Given the description of an element on the screen output the (x, y) to click on. 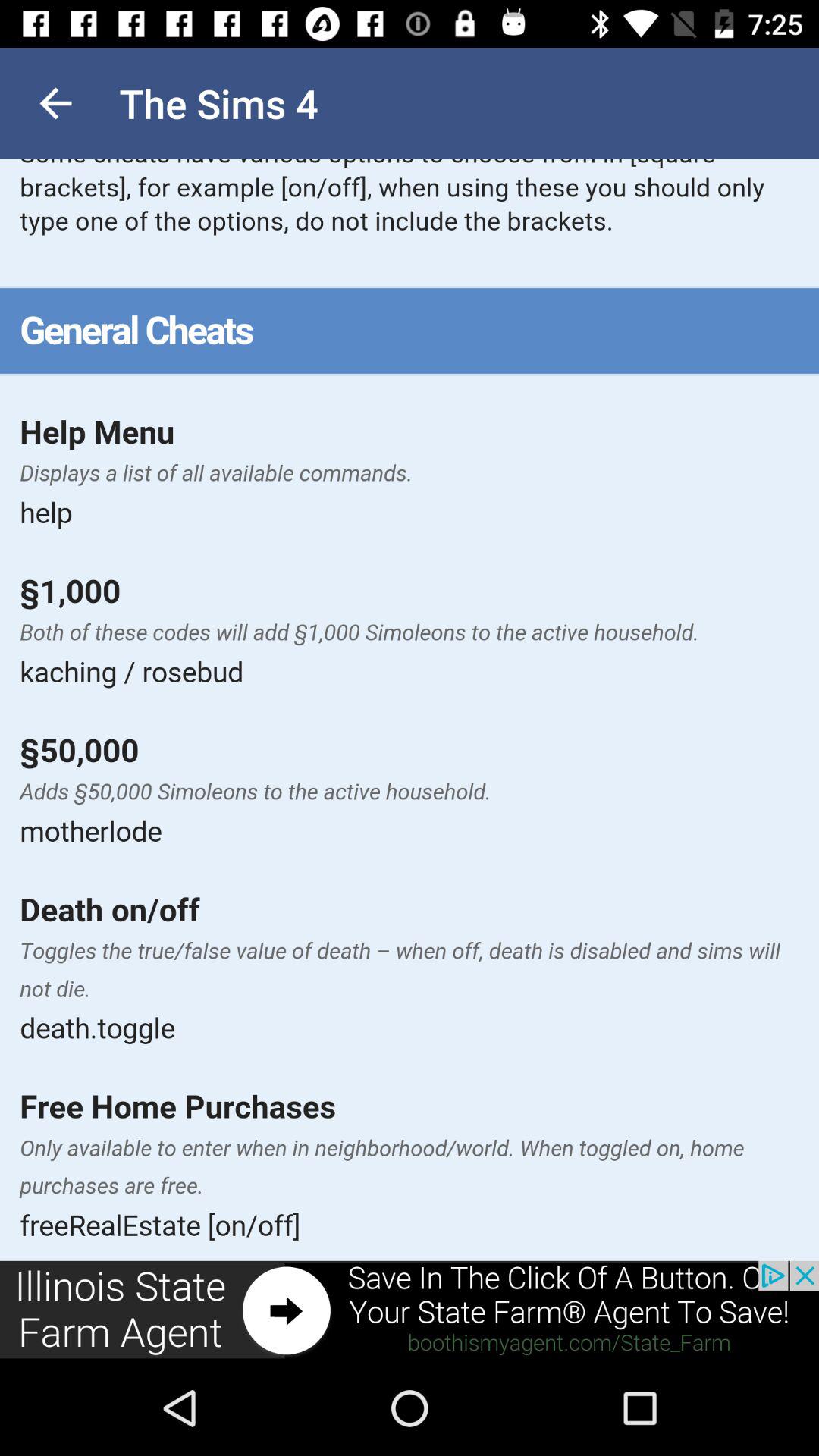
advertisement area (409, 1310)
